Given the description of an element on the screen output the (x, y) to click on. 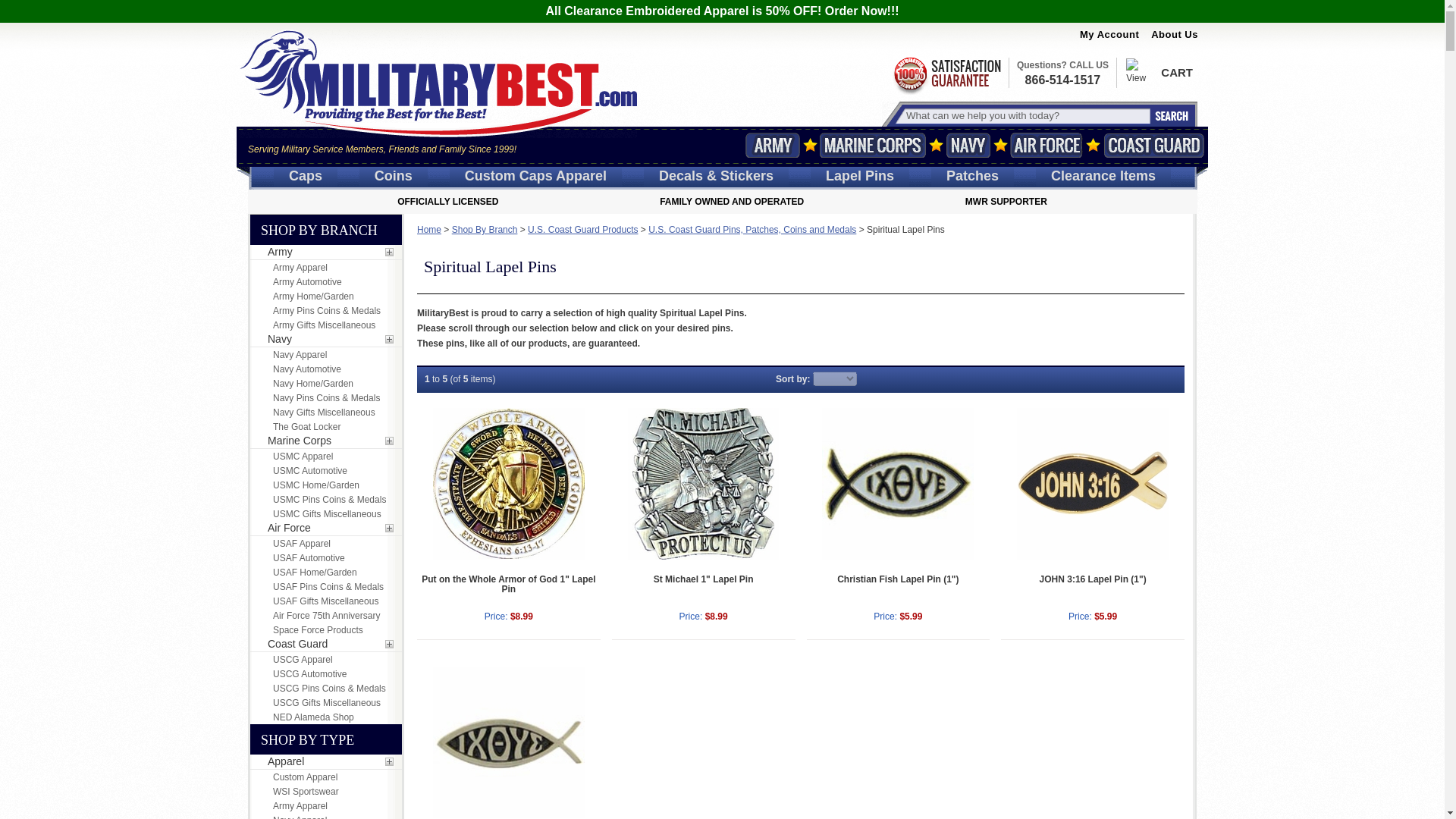
Satisfaction Guaranteed (946, 74)
St Michael 1" Lapel Pin (702, 483)
Coast Guard (1153, 144)
About Us (1174, 34)
Marine Corps (872, 144)
U.S. Coast Guard Pins, Patches, Coins and Medals (751, 229)
SEARCH (1170, 116)
Air Force (1046, 144)
Clearance Items (1103, 176)
St Michael 1" Lapel Pin (703, 579)
Put on the Whole Armor of God 1" Lapel Pin (507, 483)
What can we help you with today? (1062, 72)
Home (1025, 115)
Custom Caps Apparel (428, 229)
